Given the description of an element on the screen output the (x, y) to click on. 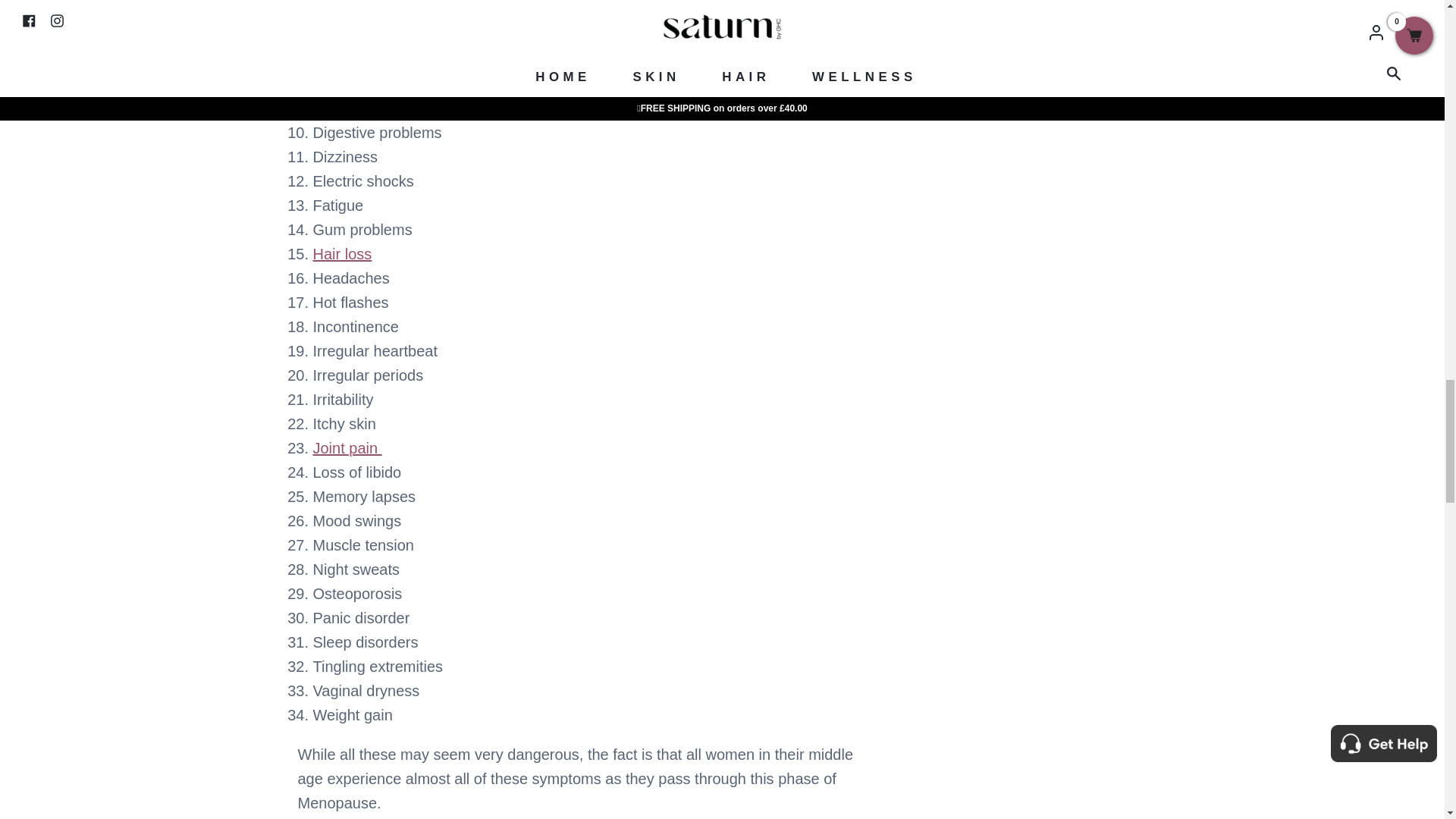
Joint pain  (347, 447)
Hair loss (342, 253)
